Given the description of an element on the screen output the (x, y) to click on. 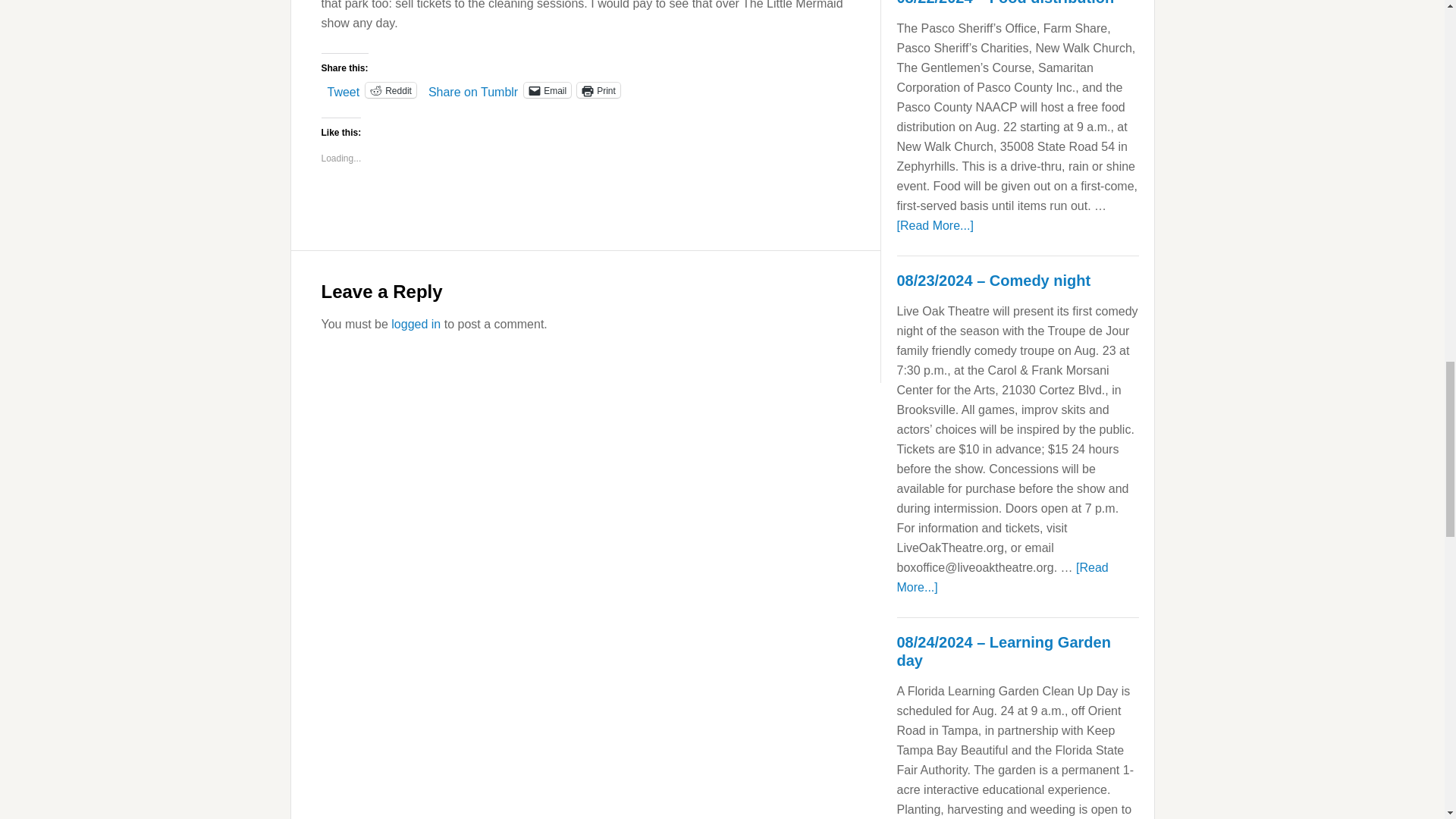
Click to share on Reddit (390, 89)
Click to email a link to a friend (547, 89)
Click to print (598, 89)
Share on Tumblr (473, 89)
